Given the description of an element on the screen output the (x, y) to click on. 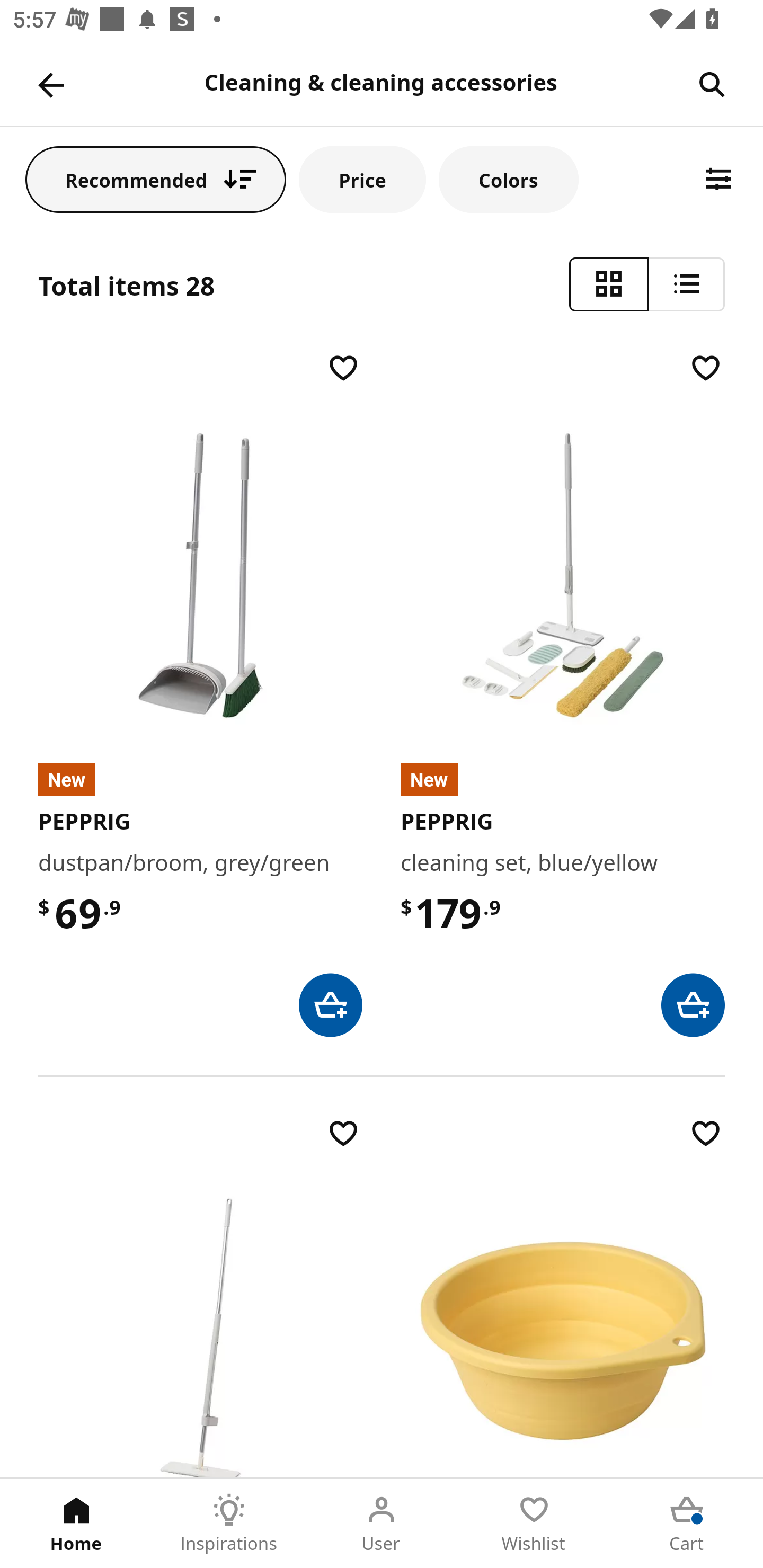
Recommended (155, 179)
Price (362, 179)
Colors (508, 179)
Home
Tab 1 of 5 (76, 1522)
Inspirations
Tab 2 of 5 (228, 1522)
User
Tab 3 of 5 (381, 1522)
Wishlist
Tab 4 of 5 (533, 1522)
Cart
Tab 5 of 5 (686, 1522)
